Given the description of an element on the screen output the (x, y) to click on. 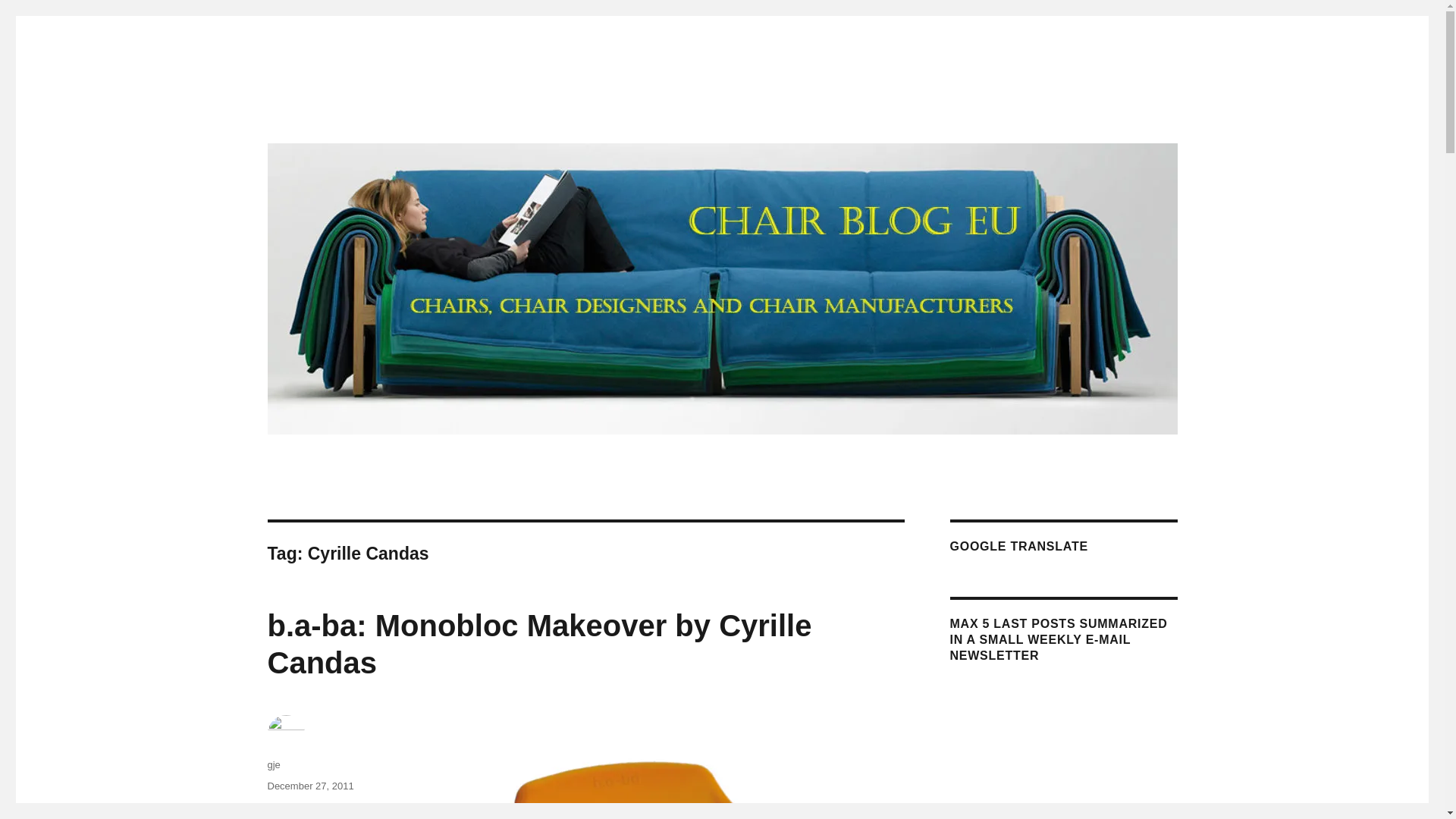
December 27, 2011 (309, 785)
b.a-ba: Monobloc Makeover by Cyrille Candas (538, 644)
chair rejuvenation (349, 807)
armchair (285, 807)
Chairblog.eu (331, 114)
gje (272, 764)
b.a-ba-orange-monobloc by Cyrille Candas (676, 766)
